Given the description of an element on the screen output the (x, y) to click on. 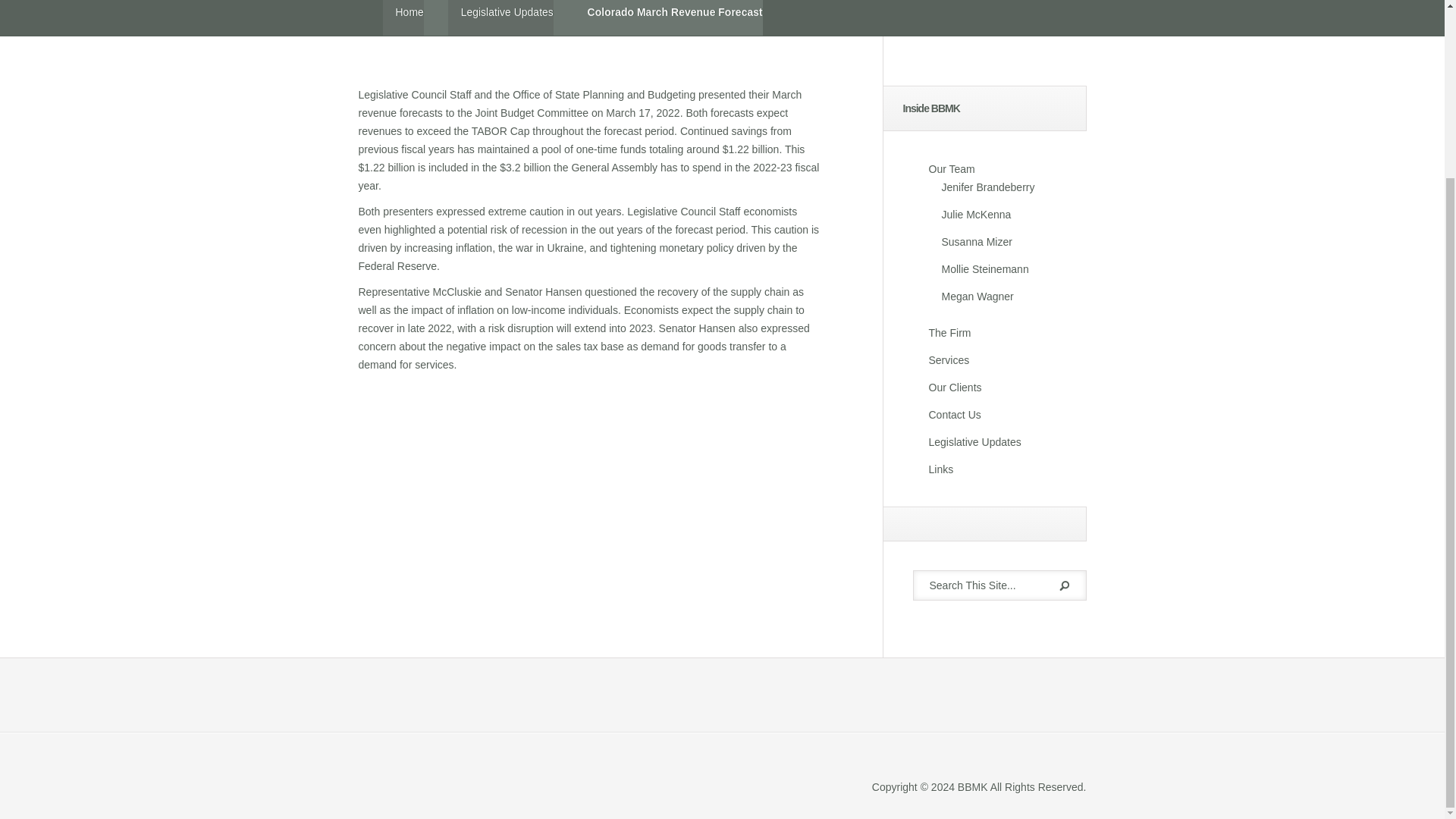
The Firm (949, 332)
Megan Wagner (977, 296)
Jenifer Brandeberry (988, 186)
Contact Us (953, 414)
Services (948, 359)
Julie McKenna (976, 214)
Our Clients (954, 387)
Search This Site... (983, 585)
Legislative Updates (974, 441)
Legislative Updates (500, 18)
